Given the description of an element on the screen output the (x, y) to click on. 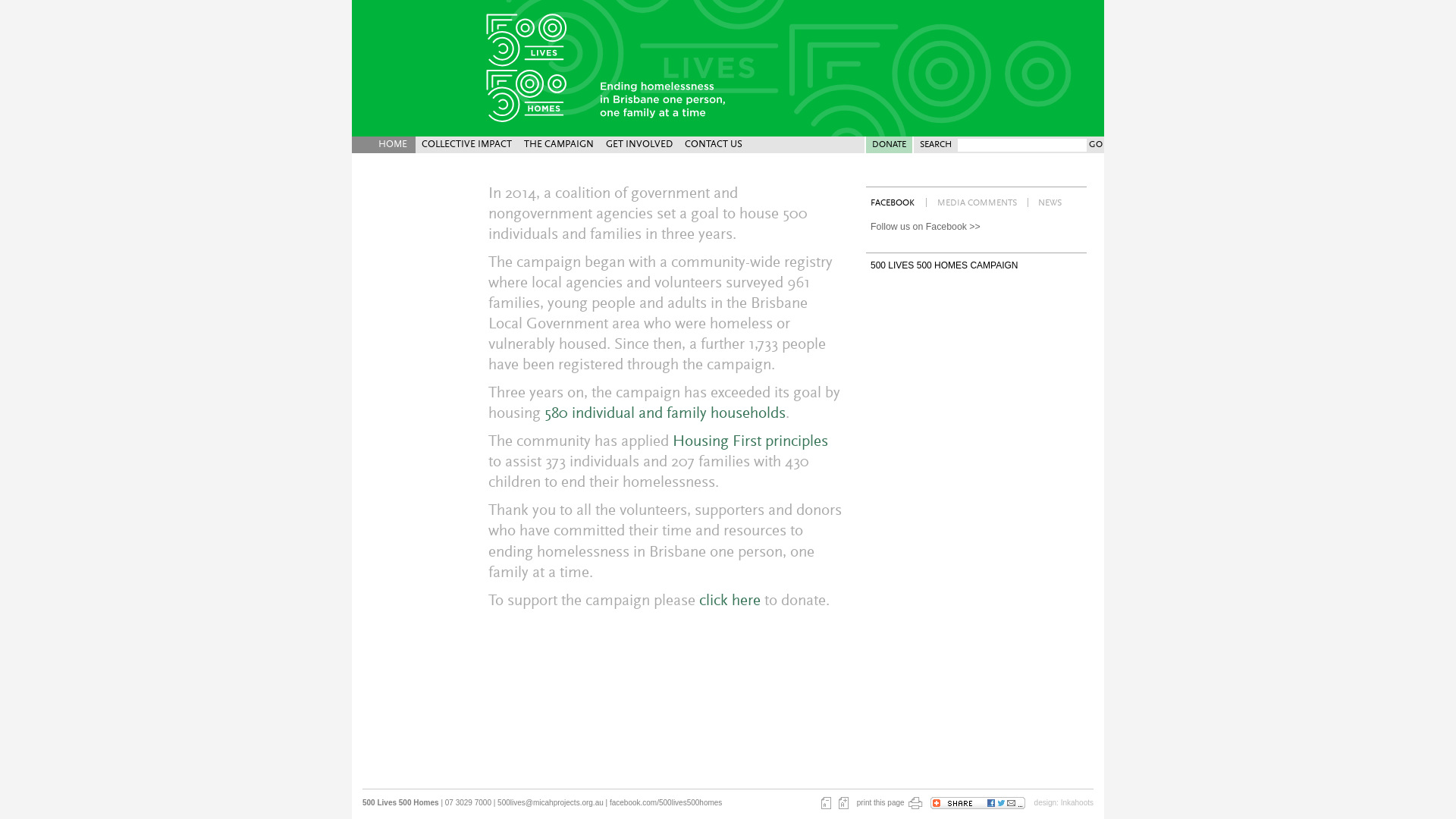
NEWS Element type: text (1049, 201)
THE CAMPAIGN Element type: text (558, 144)
GO Element type: text (1095, 144)
design: Inkahoots Element type: text (1063, 802)
Follow us on Facebook >> Element type: text (976, 226)
Housing First principles Element type: text (750, 442)
HOME Element type: text (383, 144)
DONATE Element type: text (889, 144)
COLLECTIVE IMPACT Element type: text (466, 144)
MEDIA COMMENTS Element type: text (976, 201)
decrease text size Element type: text (825, 802)
print this page Element type: text (890, 802)
facebook.com/500lives500homes Element type: text (665, 802)
GET INVOLVED Element type: text (638, 144)
FACEBOOK Element type: text (892, 201)
click here Element type: text (729, 601)
500lives@micahprojects.org.au Element type: text (550, 802)
increase text size Element type: text (843, 802)
580 individual and family households Element type: text (664, 414)
CONTACT US Element type: text (713, 144)
